Given the description of an element on the screen output the (x, y) to click on. 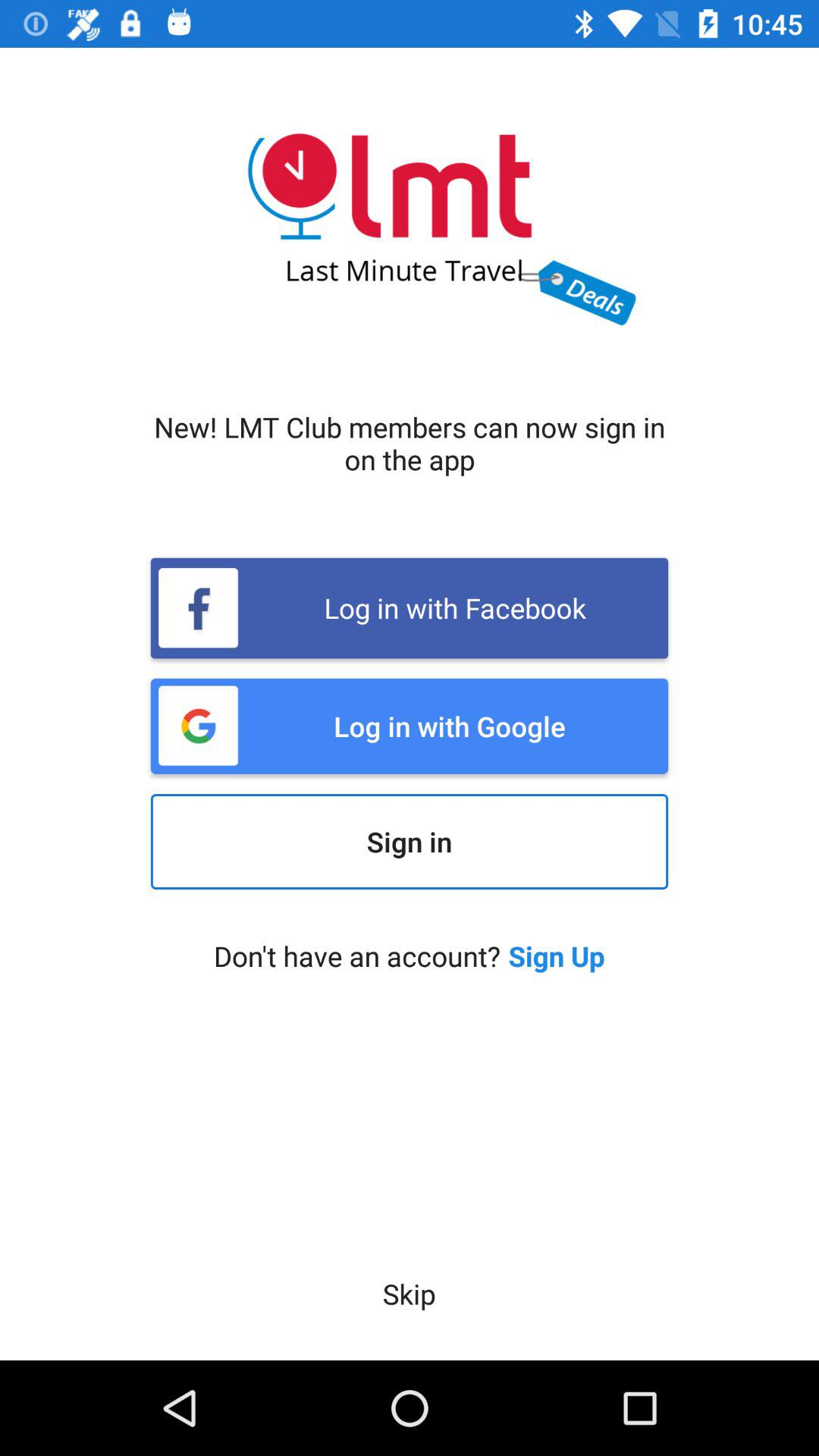
jump until the sign up (556, 955)
